Given the description of an element on the screen output the (x, y) to click on. 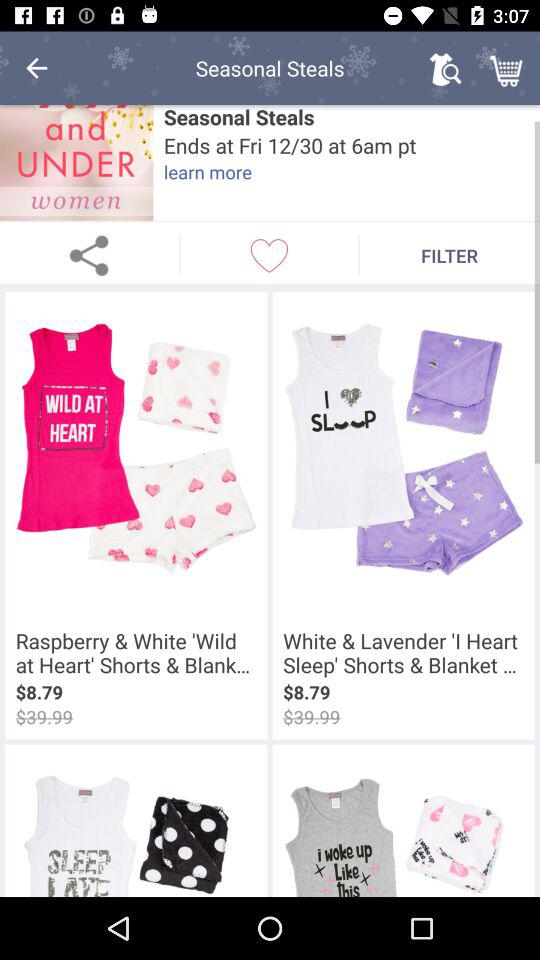
choose icon above the seasonal steals icon (444, 67)
